Given the description of an element on the screen output the (x, y) to click on. 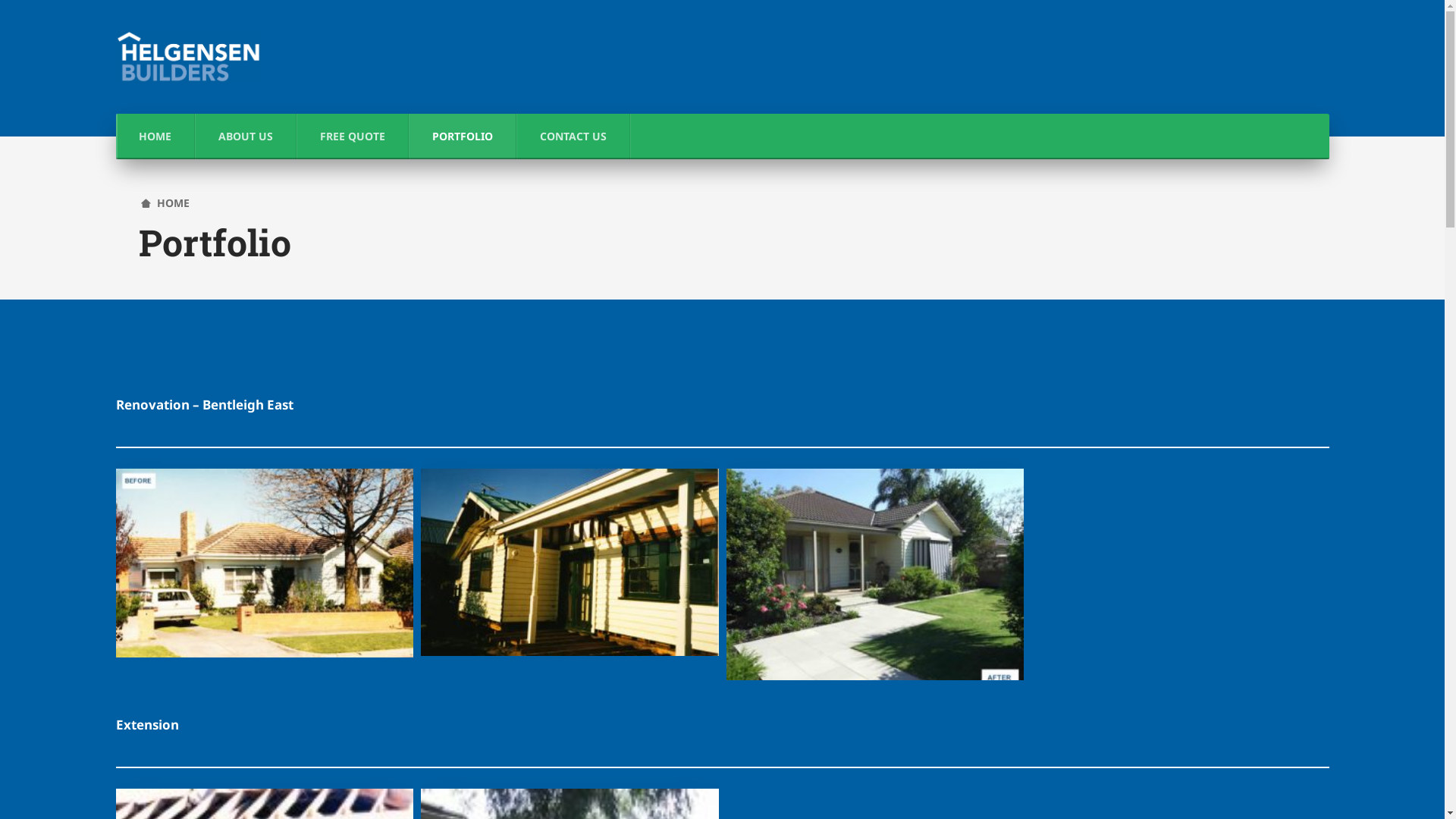
CONTACT US Element type: text (573, 136)
Bentleigh East - During Element type: hover (569, 567)
Bentleigh East - Before Element type: hover (264, 568)
HOME Element type: text (165, 202)
FREE QUOTE Element type: text (352, 136)
PORTFOLIO Element type: text (462, 136)
Bentleigh East - After Element type: hover (875, 579)
ABOUT US Element type: text (245, 136)
HOME Element type: text (154, 136)
